Given the description of an element on the screen output the (x, y) to click on. 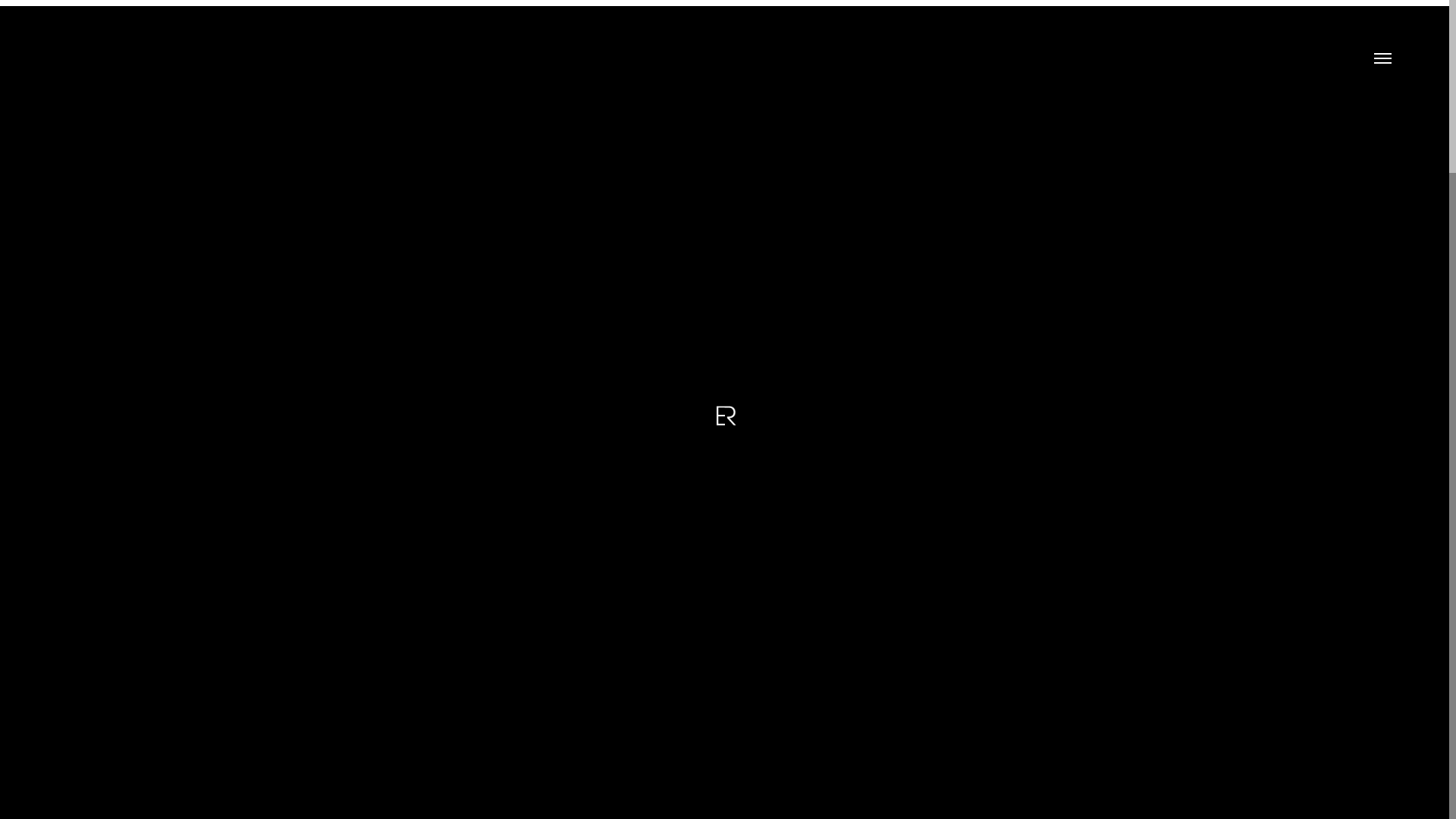
About Element type: text (850, 314)
Auswahl erlauben Element type: text (730, 584)
Details Element type: text (730, 290)
Consent Element type: text (609, 314)
Allow Selected Element type: text (730, 561)
Details Element type: text (730, 314)
Zustimmung Element type: text (609, 290)
